Given the description of an element on the screen output the (x, y) to click on. 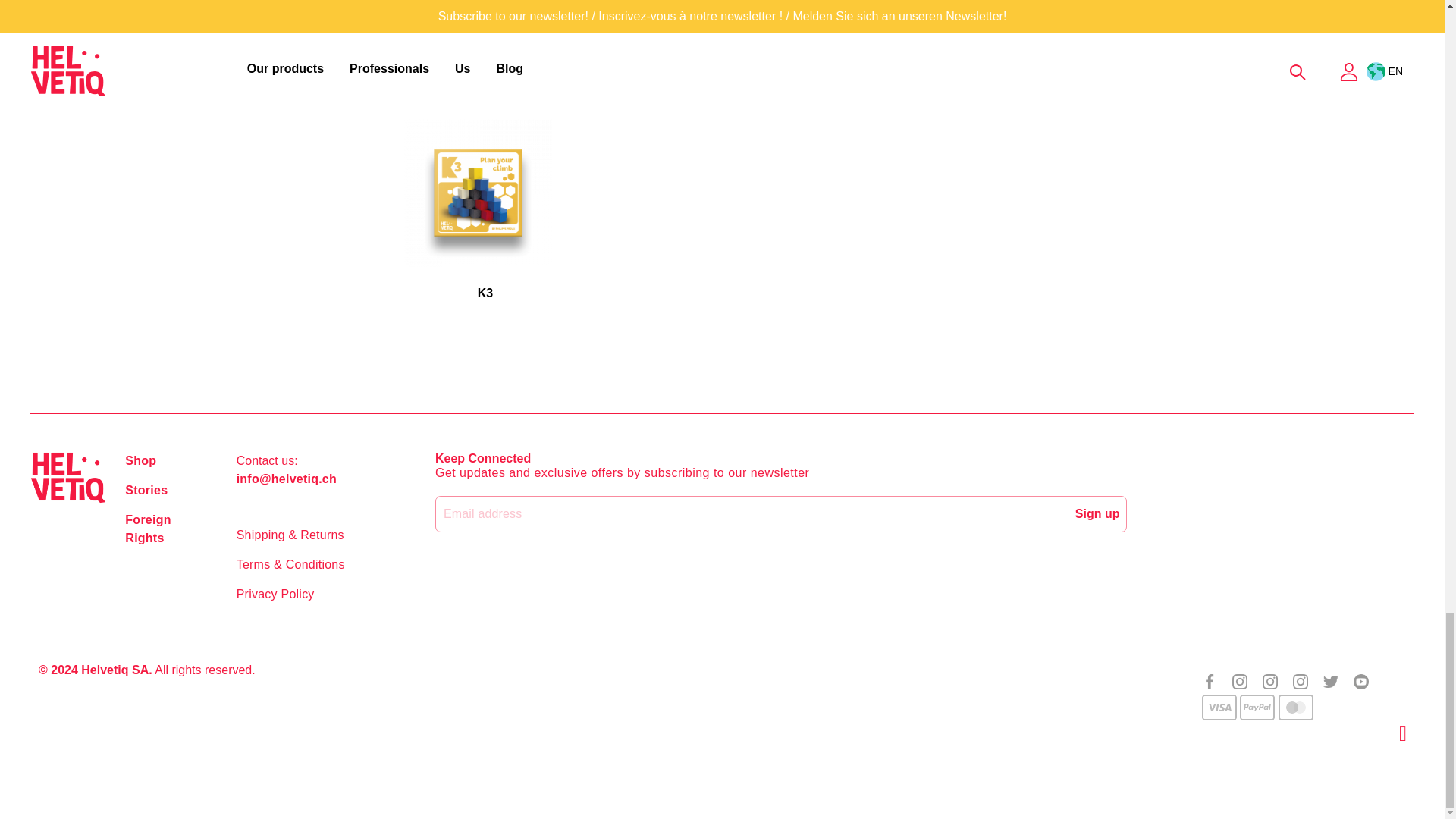
Sign up (1097, 513)
